Given the description of an element on the screen output the (x, y) to click on. 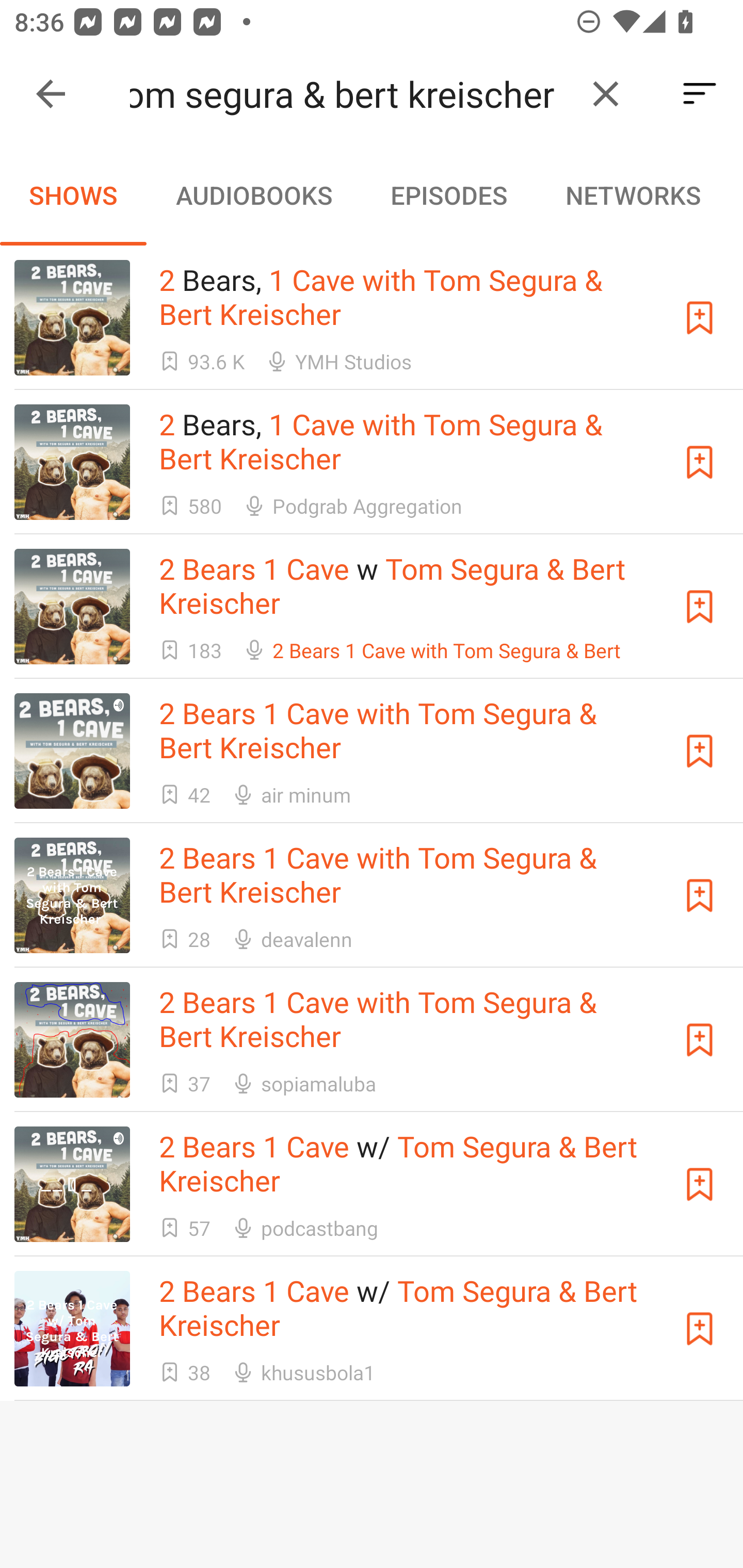
Collapse (50, 93)
Clear query (605, 93)
Sort By (699, 93)
2 bears 1 cave with tom segura & bert kreischer (349, 94)
SHOWS (73, 195)
AUDIOBOOKS (253, 195)
EPISODES (448, 195)
NETWORKS (632, 195)
Subscribe (699, 317)
Subscribe (699, 462)
Subscribe (699, 606)
Subscribe (699, 751)
Subscribe (699, 895)
Subscribe (699, 1039)
Subscribe (699, 1183)
Subscribe (699, 1328)
